Given the description of an element on the screen output the (x, y) to click on. 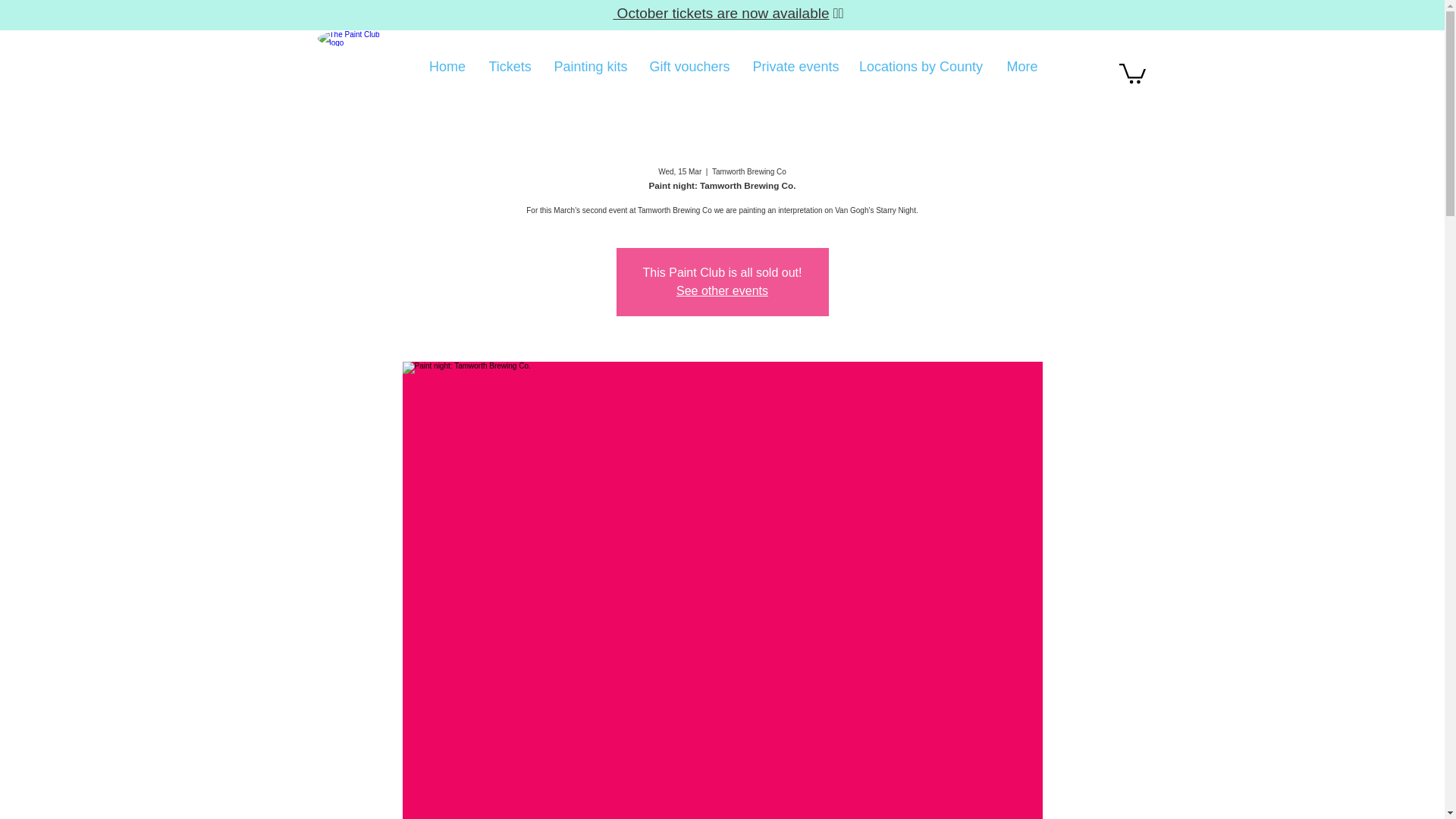
 October tickets are now available (720, 12)
Tickets (510, 66)
Home (446, 66)
